Given the description of an element on the screen output the (x, y) to click on. 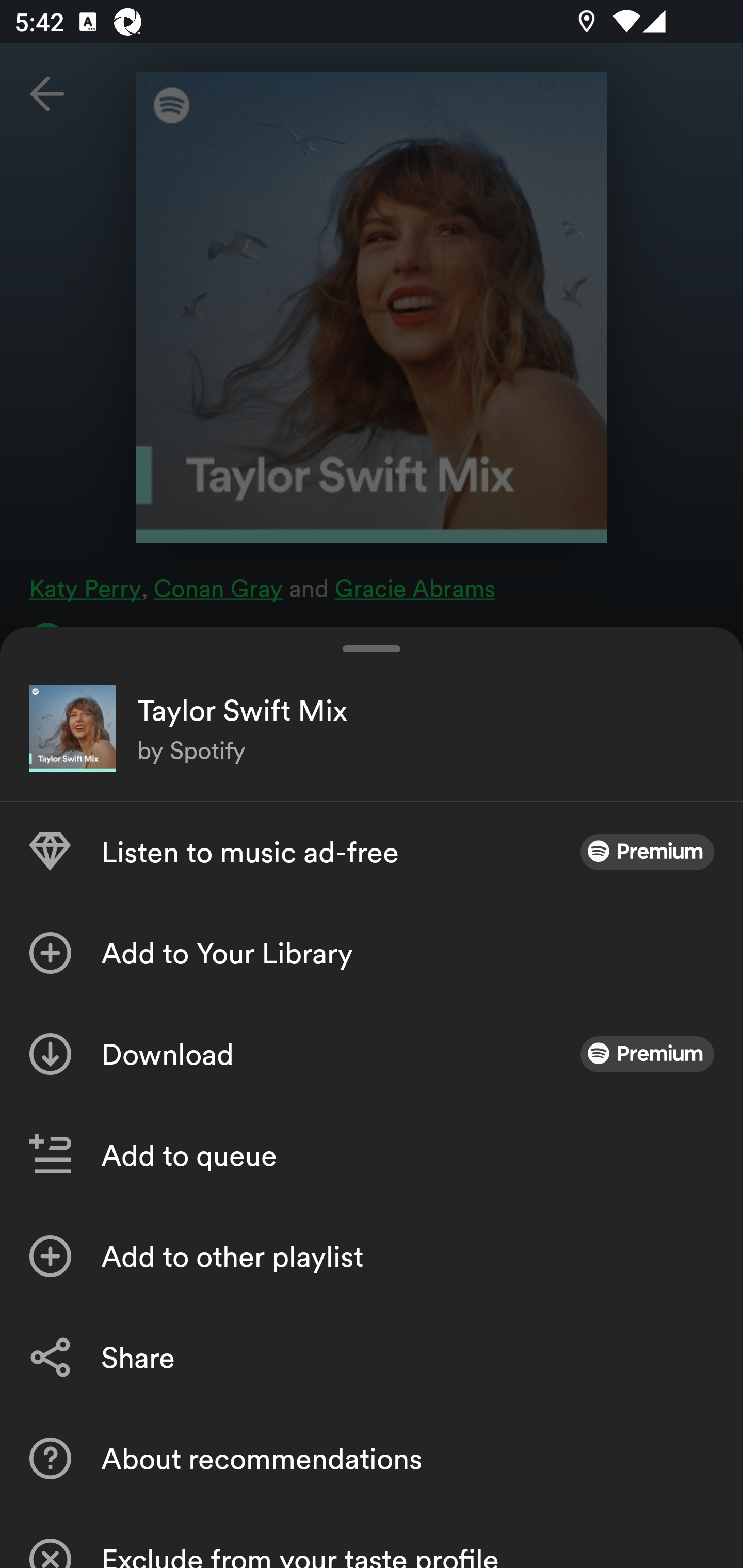
Listen to music ad-free (371, 852)
Add to Your Library (371, 953)
Download (371, 1054)
Add to queue (371, 1155)
Add to other playlist (371, 1256)
Share (371, 1357)
About recommendations (371, 1458)
Exclude from your taste profile (371, 1538)
